Given the description of an element on the screen output the (x, y) to click on. 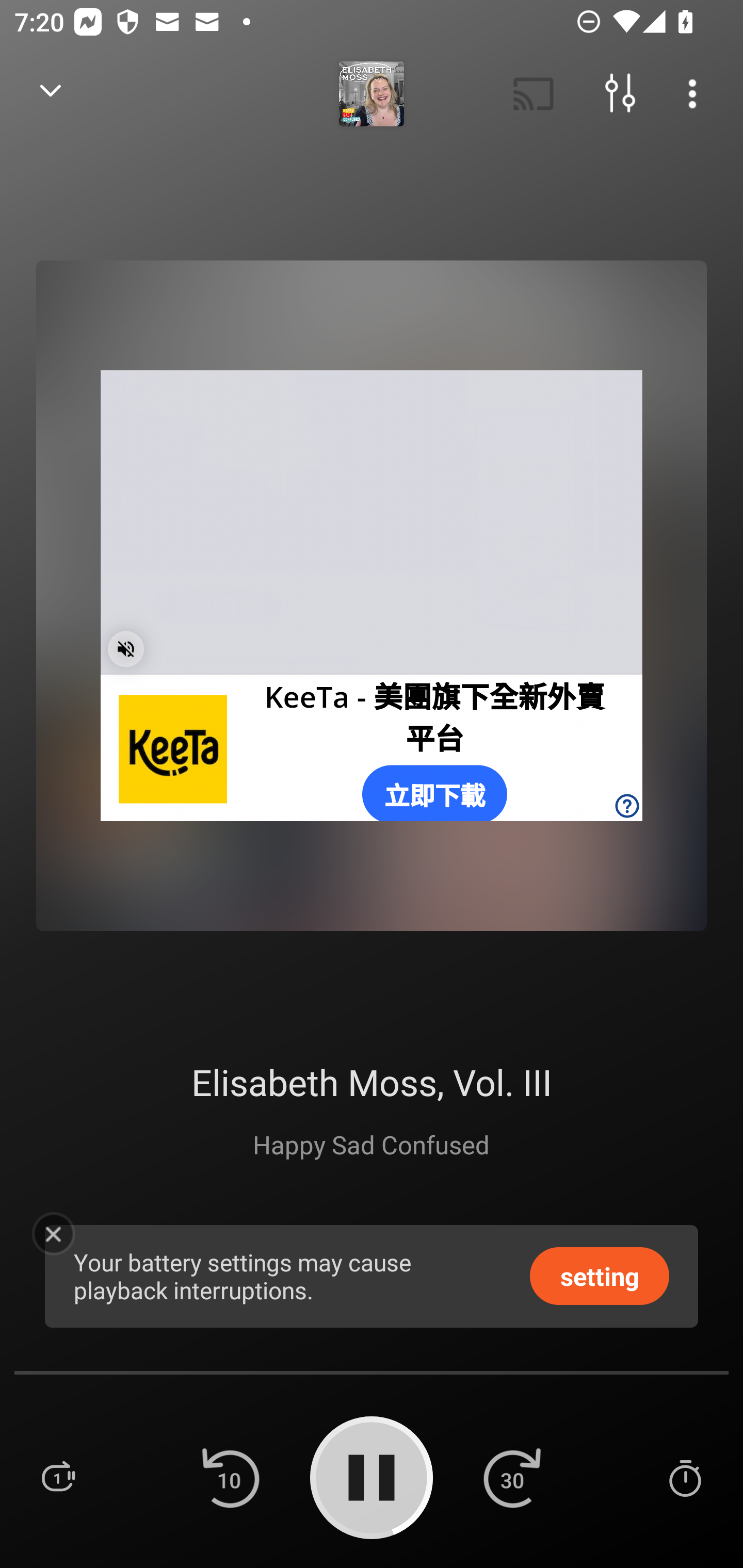
Cast. Disconnected (533, 93)
 Back (50, 94)
Elisabeth Moss, Vol. III (371, 1081)
Happy Sad Confused (371, 1144)
setting (599, 1275)
 Playlist (57, 1477)
Sleep Timer  (684, 1477)
